Given the description of an element on the screen output the (x, y) to click on. 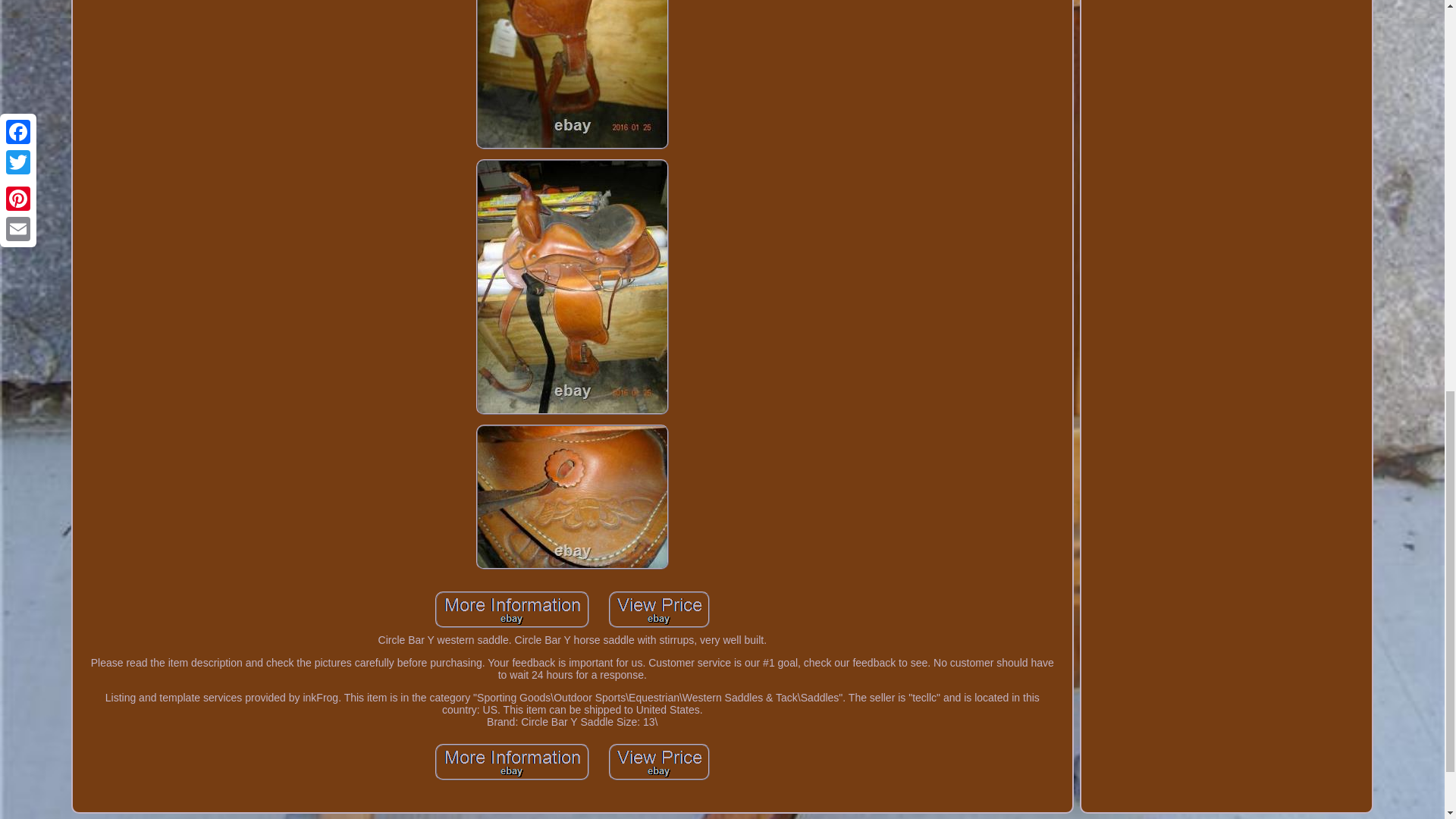
Circle Bar Y western saddle (572, 497)
Circle Bar Y western saddle (659, 761)
Circle Bar Y western saddle (512, 761)
Circle Bar Y western saddle (512, 609)
Circle Bar Y western saddle (659, 609)
Circle Bar Y western saddle (572, 74)
